Given the description of an element on the screen output the (x, y) to click on. 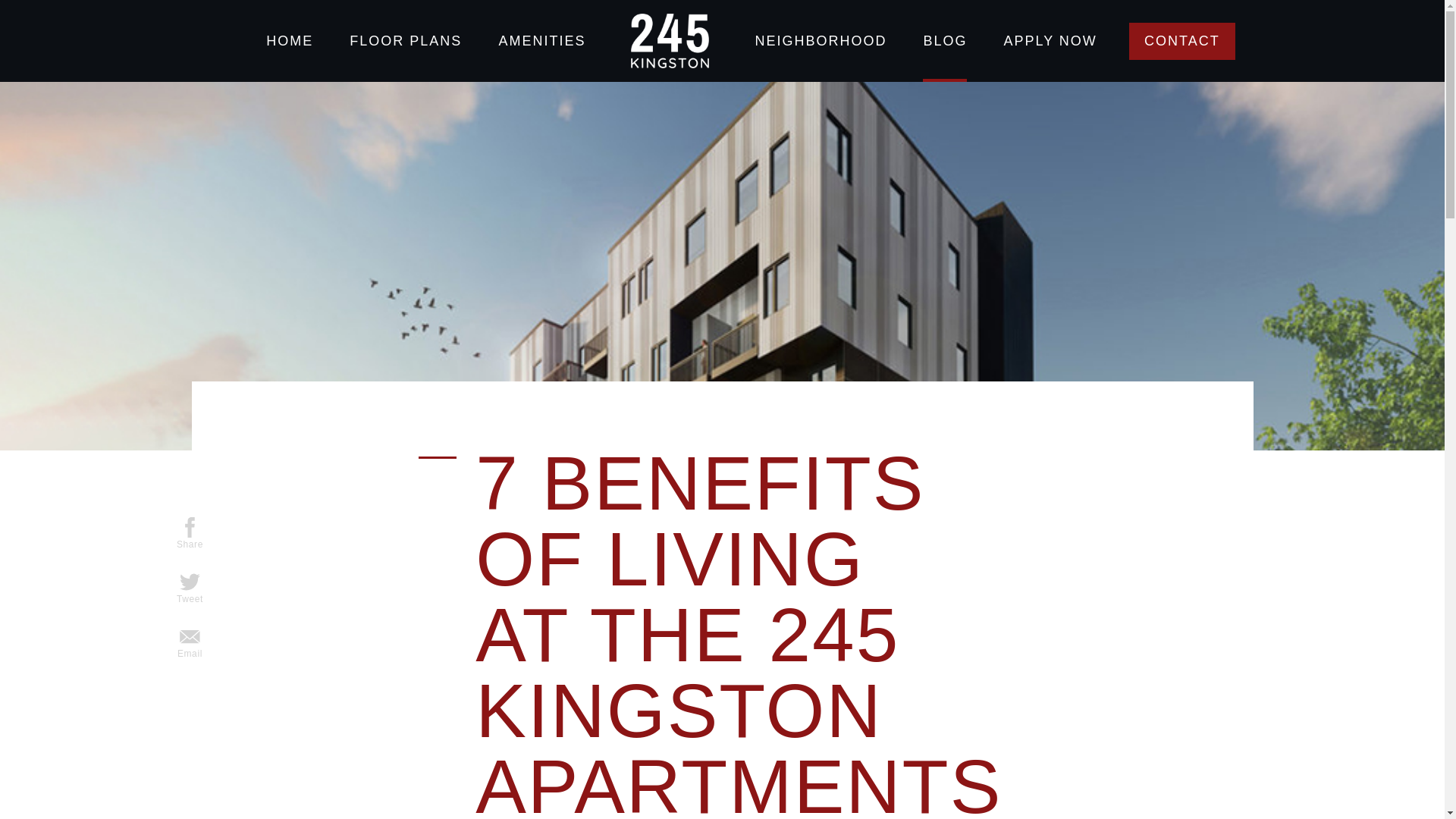
FLOOR PLANS Element type: text (405, 40)
CONTACT Element type: text (1182, 40)
Share Element type: text (189, 533)
BLOG Element type: text (944, 40)
APPLY NOW Element type: text (1049, 40)
AMENITIES Element type: text (541, 40)
245 Kingston Village Element type: hover (669, 40)
NEIGHBORHOOD Element type: text (820, 40)
Tweet Element type: text (189, 588)
Skip to content Element type: text (0, 0)
Email Element type: text (189, 642)
HOME Element type: text (289, 40)
